Given the description of an element on the screen output the (x, y) to click on. 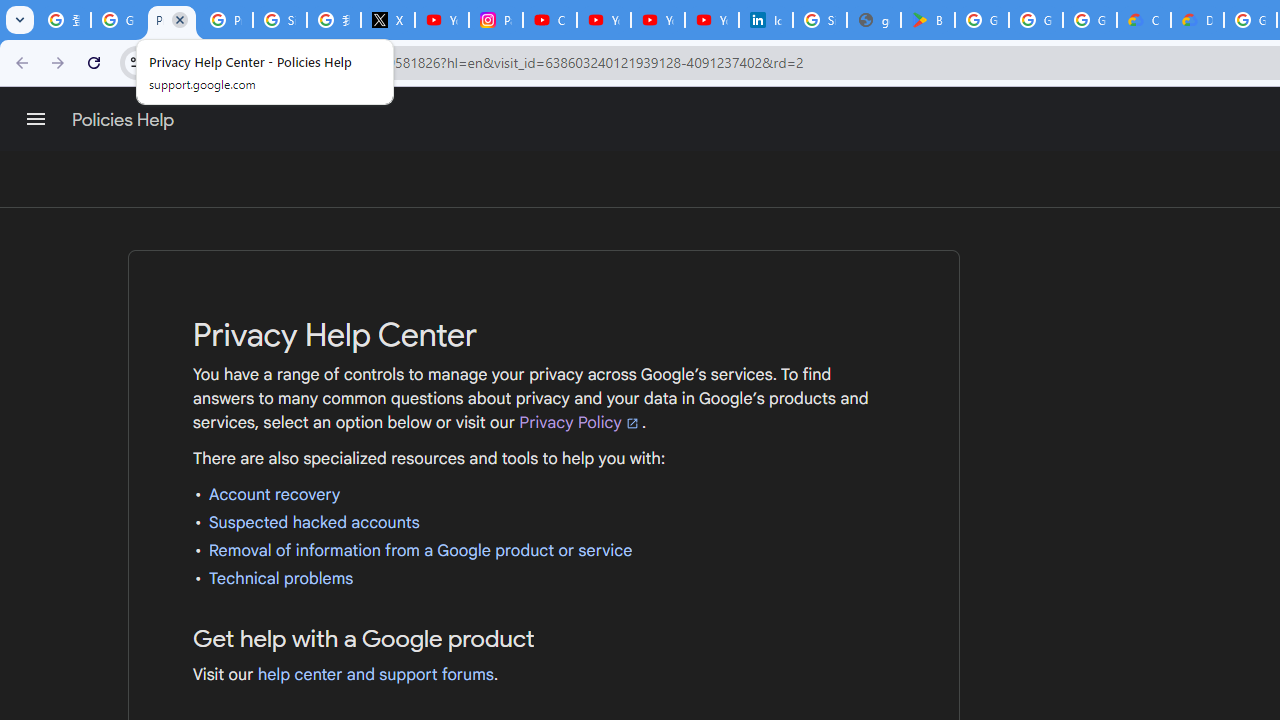
Google Workspace - Specific Terms (1035, 20)
Privacy Help Center - Policies Help (171, 20)
Customer Care | Google Cloud (1144, 20)
YouTube Content Monetization Policies - How YouTube Works (441, 20)
Account recovery (274, 494)
Suspected hacked accounts (313, 522)
help center and support forums (375, 674)
